Given the description of an element on the screen output the (x, y) to click on. 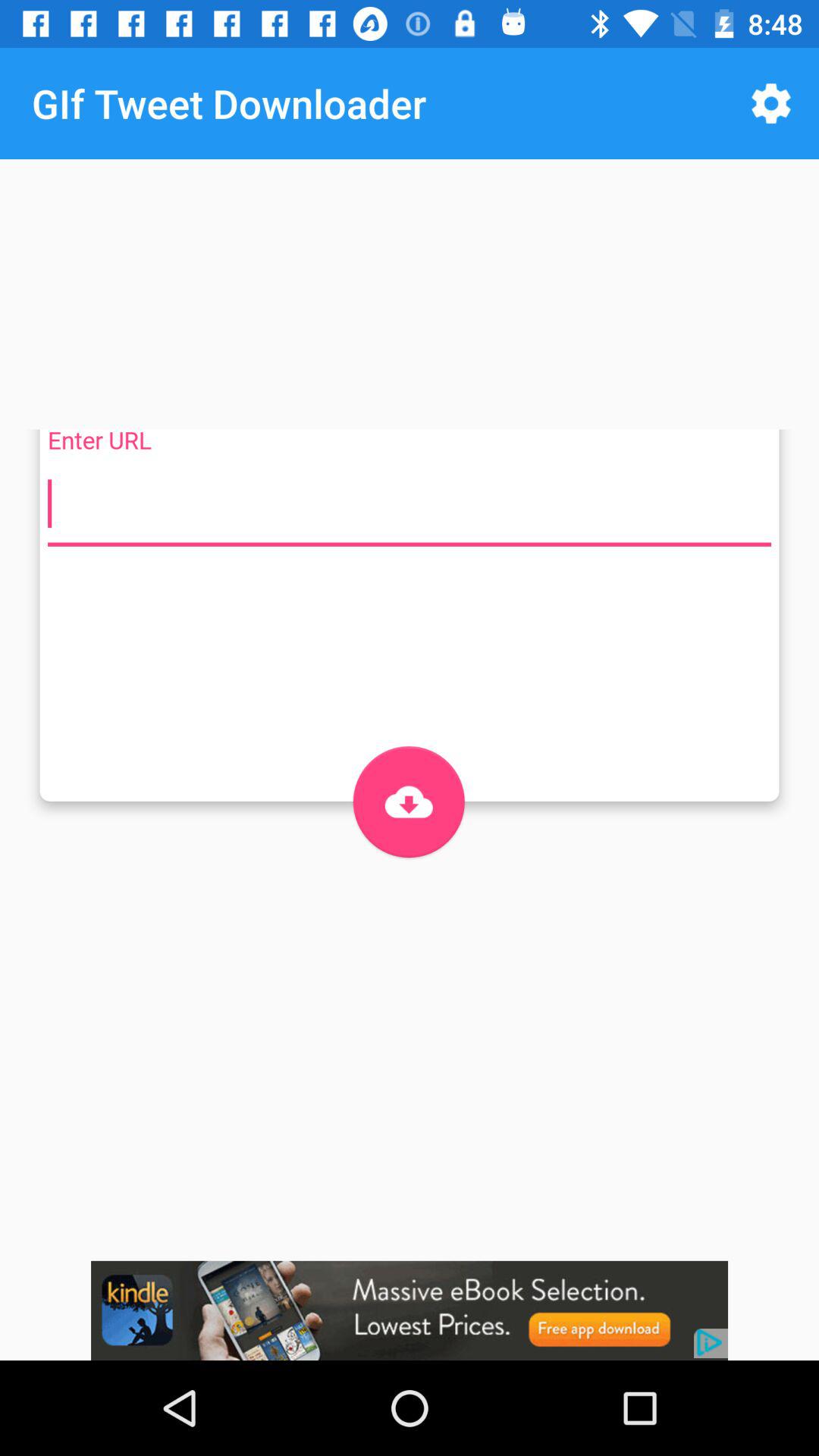
know about the advertisement (409, 1310)
